Given the description of an element on the screen output the (x, y) to click on. 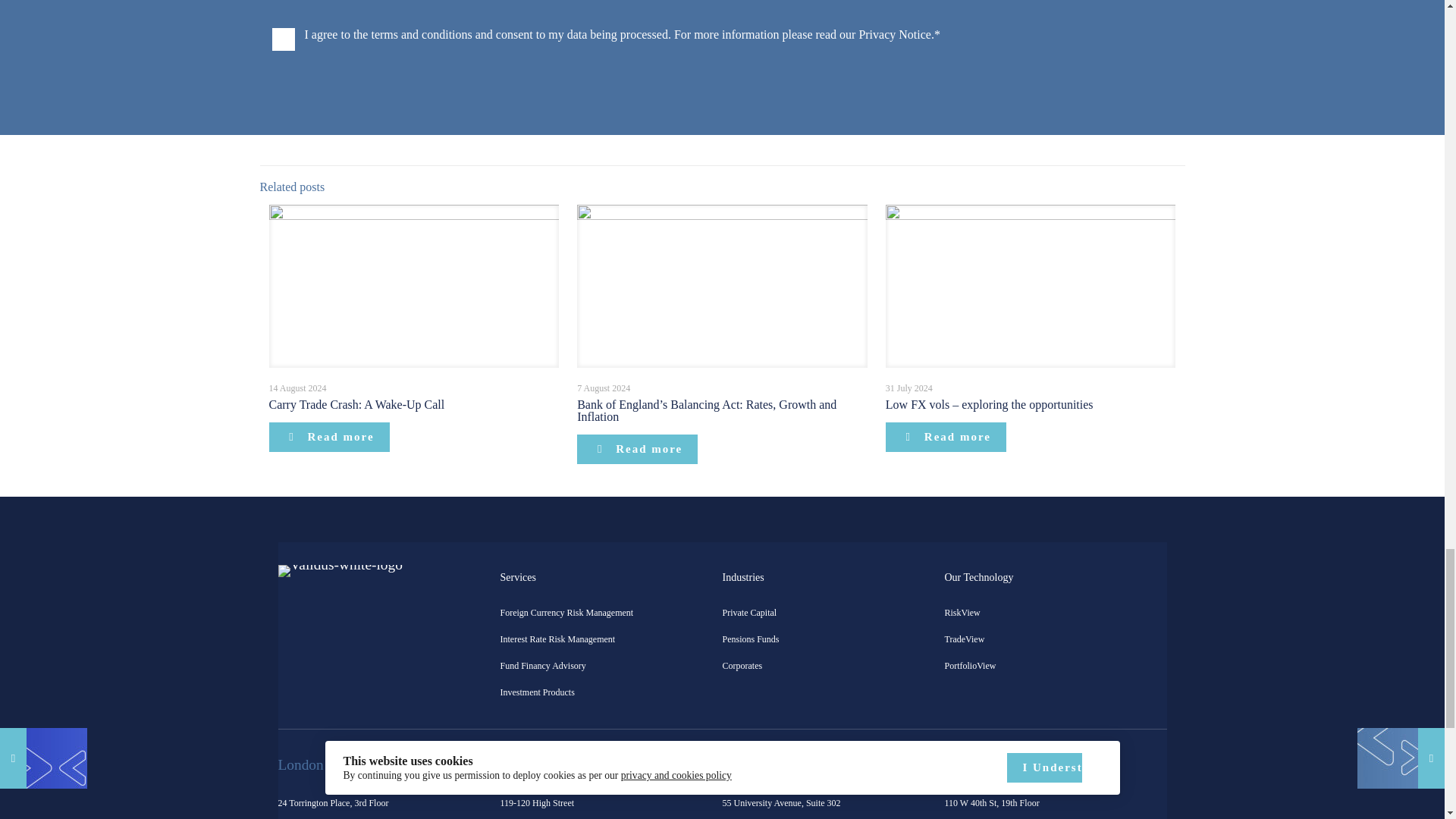
Send (1136, 8)
Carry Trade Crash: A Wake-Up Call (355, 404)
Send (1136, 8)
